Given the description of an element on the screen output the (x, y) to click on. 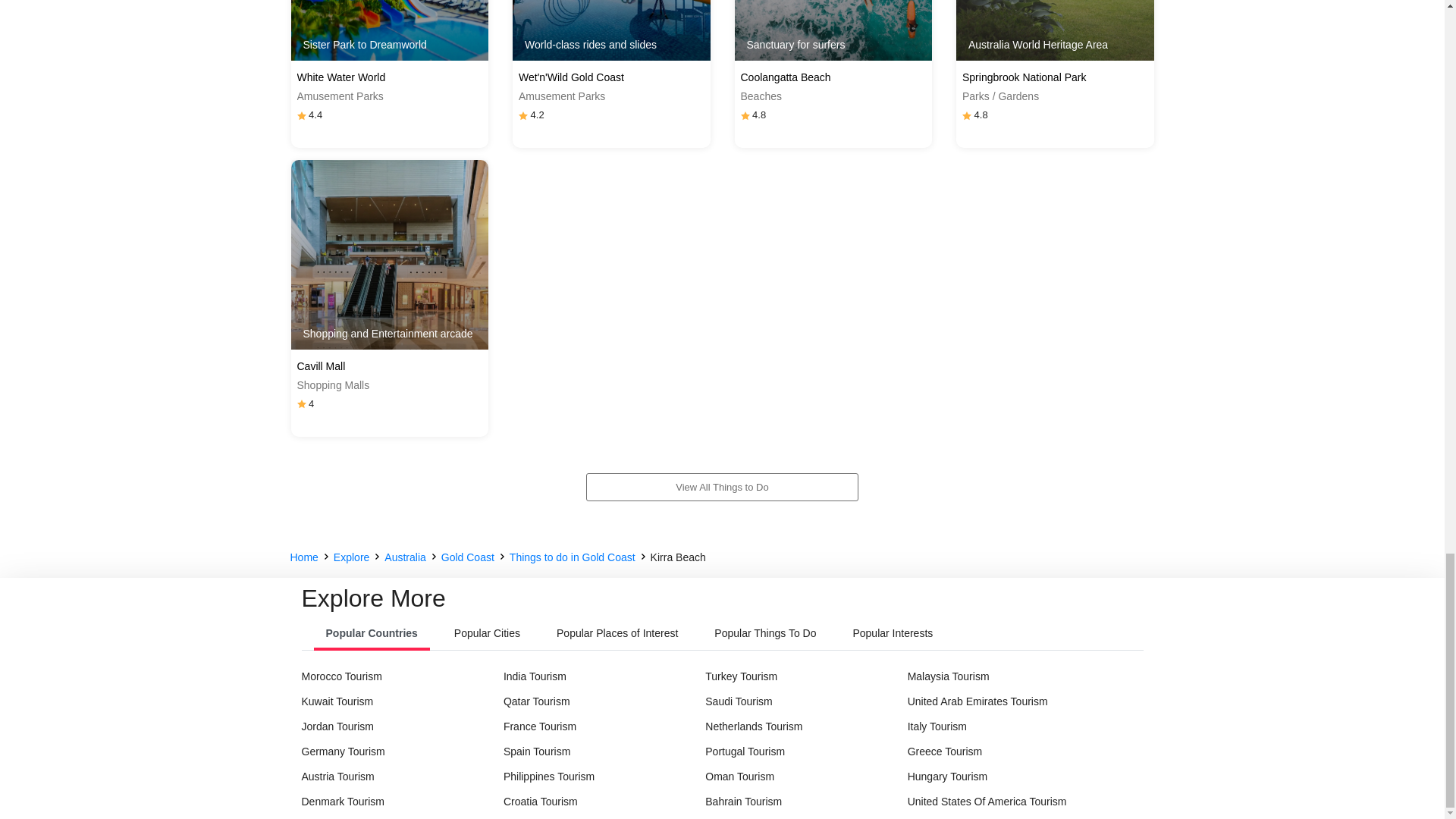
Beaches (832, 96)
Amusement Parks (390, 96)
View All Things to Do (722, 491)
Things to do in Gold Coast (571, 557)
Australia World Heritage Area (1055, 30)
White Water World (390, 77)
Cavill Mall (390, 366)
View All Things to Do (722, 487)
Explore White Water World  (390, 30)
Explore (351, 557)
Wet'n'Wild Gold Coast (611, 77)
Australia (404, 557)
Springbrook National Park (1055, 77)
Amusement Parks (611, 96)
Coolangatta Beach (832, 77)
